Given the description of an element on the screen output the (x, y) to click on. 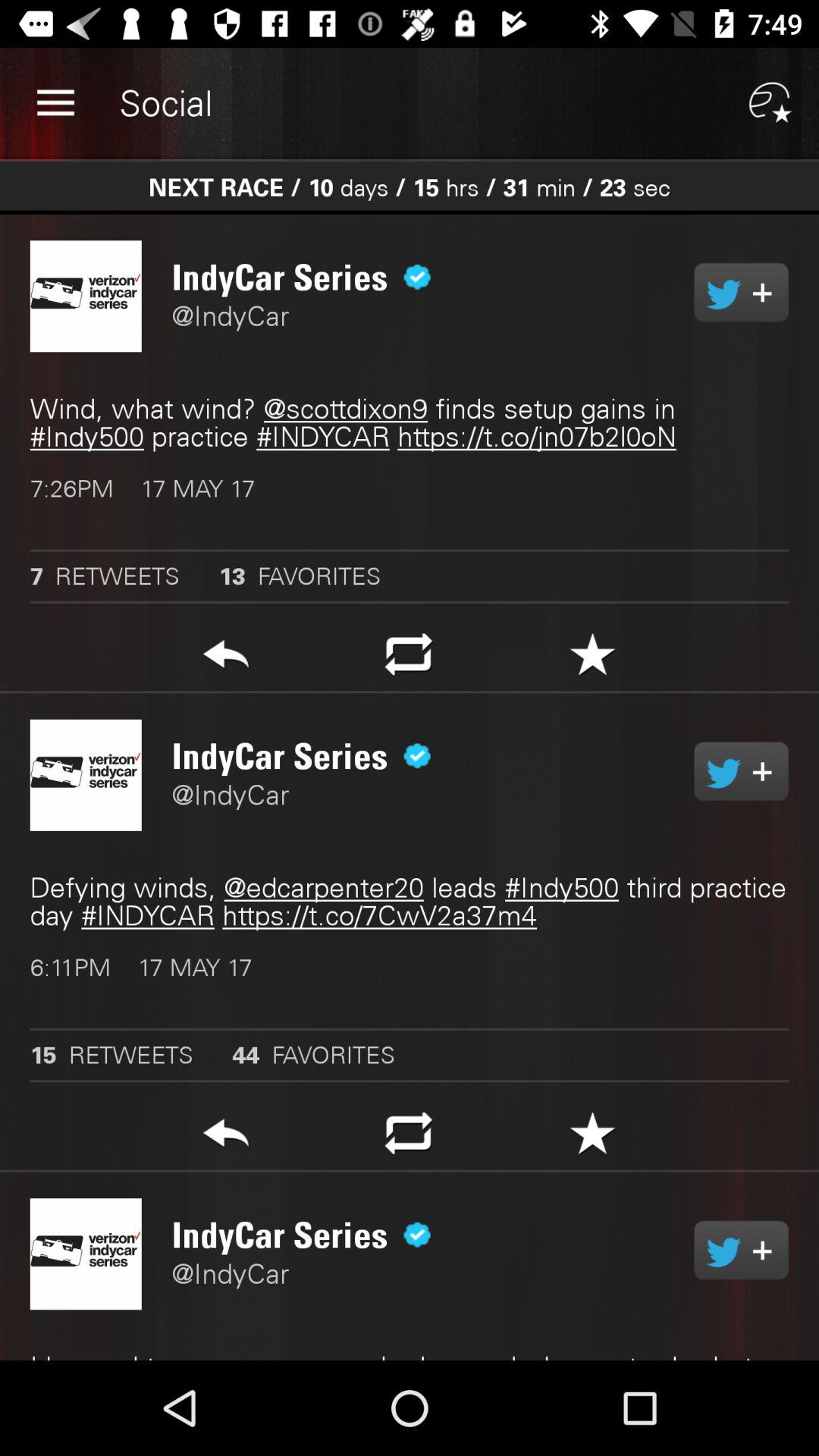
retweet (408, 658)
